Given the description of an element on the screen output the (x, y) to click on. 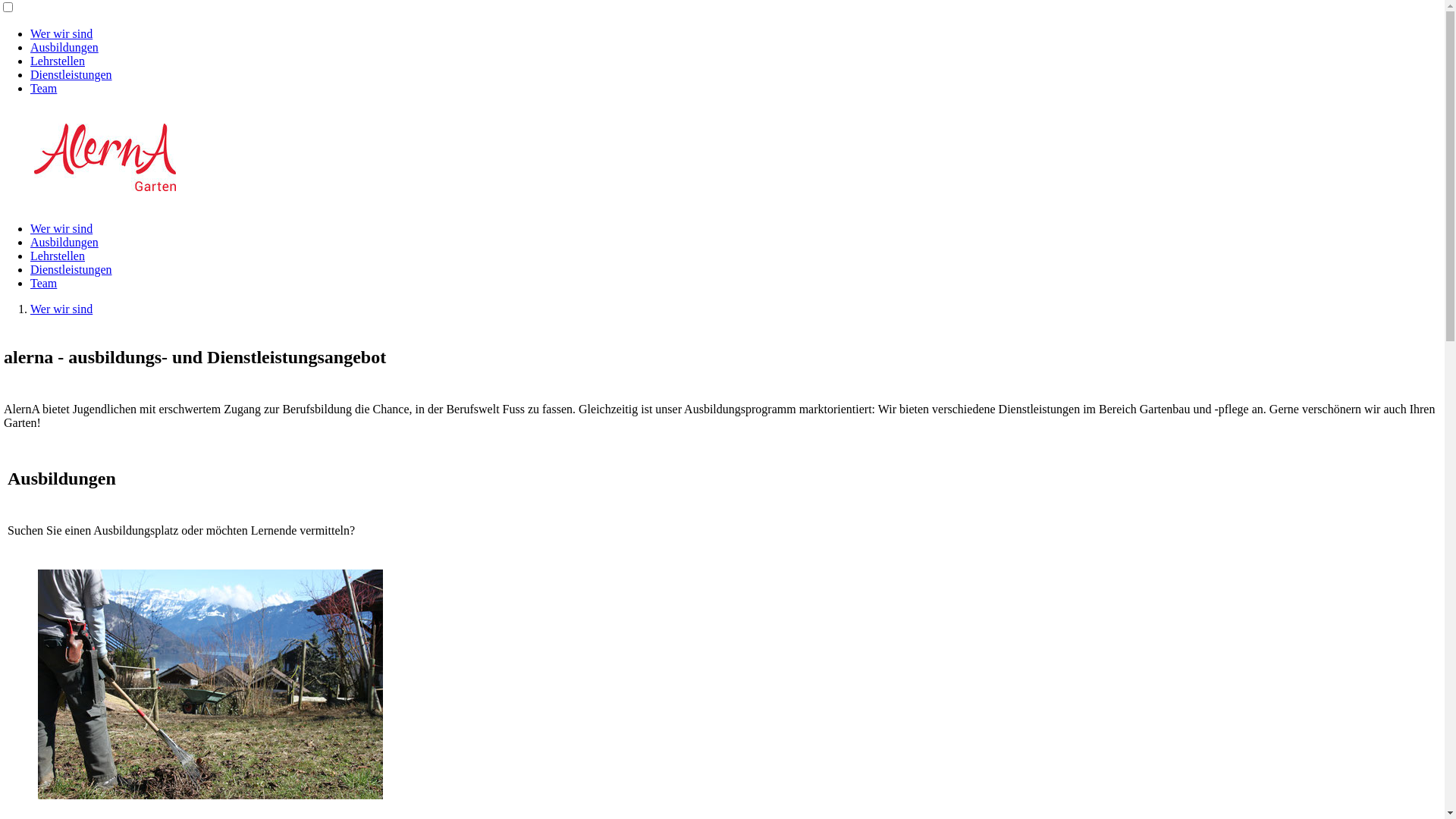
Dienstleistungen Element type: text (71, 269)
Lehrstellen Element type: text (57, 60)
Team Element type: text (43, 282)
Team Element type: text (43, 87)
Wer wir sind Element type: text (61, 33)
Wer wir sind Element type: text (61, 308)
Ausbildungen Element type: text (64, 46)
Dienstleistungen Element type: text (71, 74)
Wer wir sind Element type: text (61, 228)
Ausbildungen Element type: text (64, 241)
Lehrstellen Element type: text (57, 255)
